Given the description of an element on the screen output the (x, y) to click on. 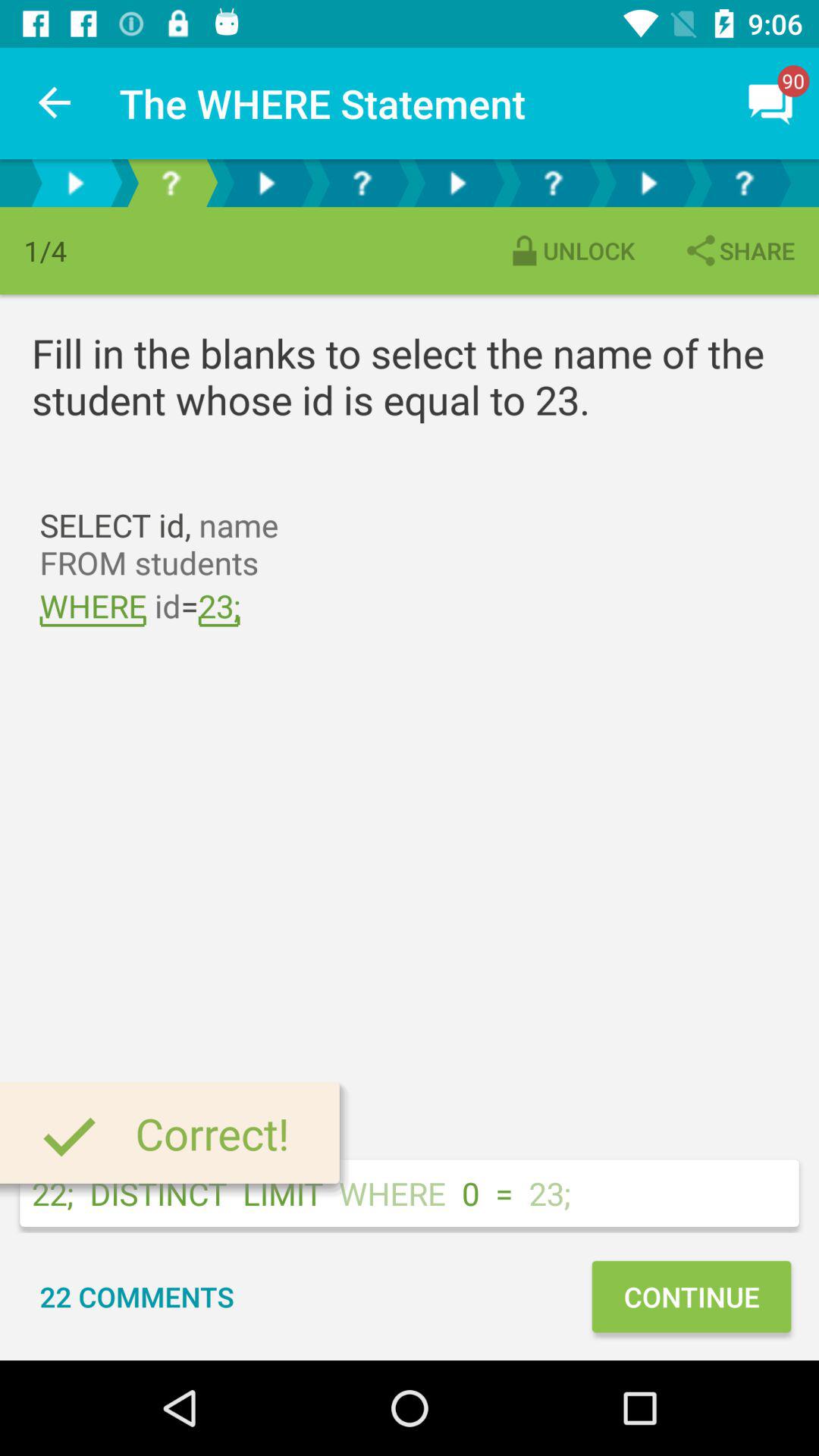
go to a specific question in the final (743, 183)
